Given the description of an element on the screen output the (x, y) to click on. 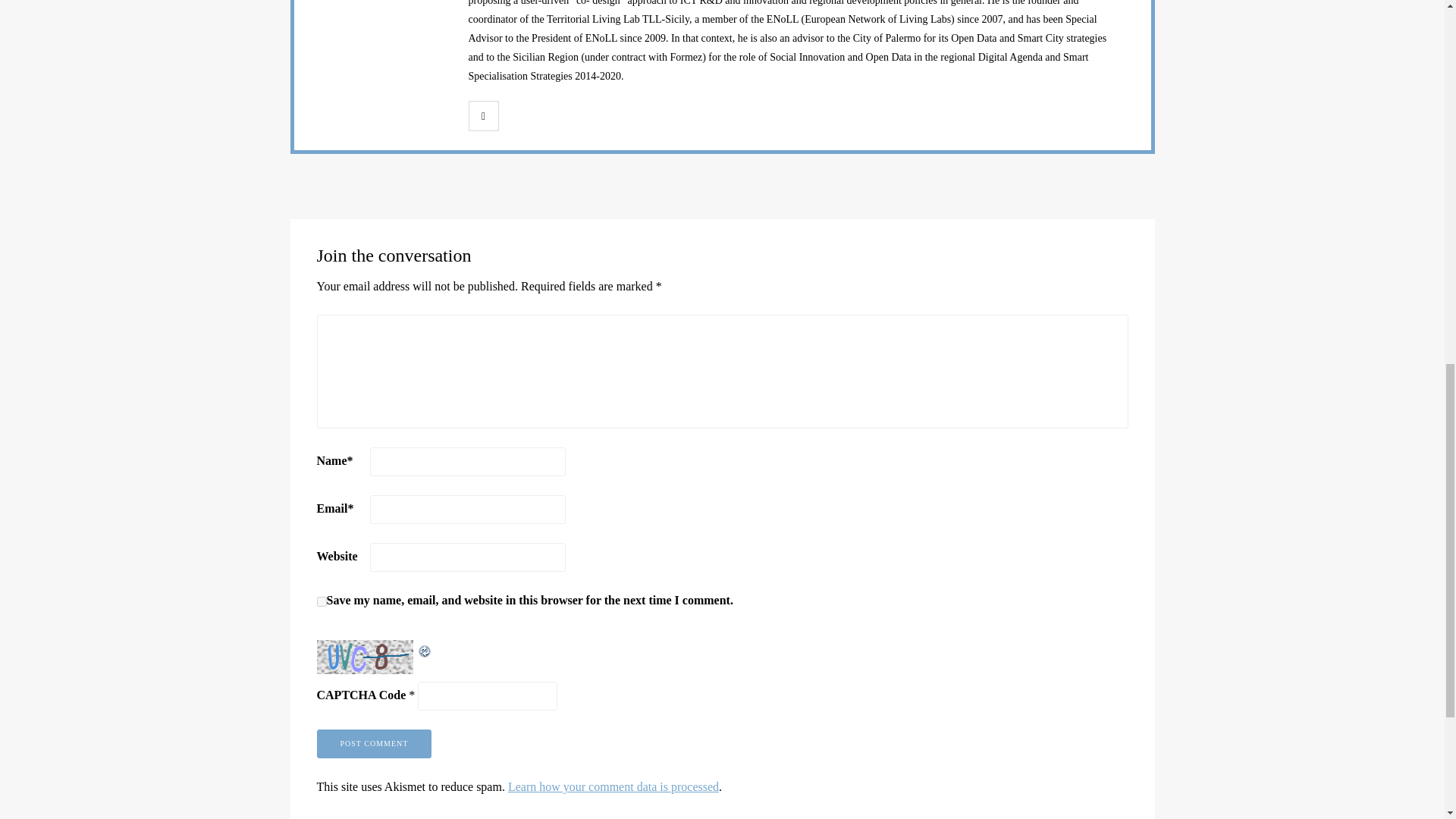
yes (321, 601)
Post comment (374, 743)
Refresh (424, 649)
CAPTCHA (366, 656)
